Given the description of an element on the screen output the (x, y) to click on. 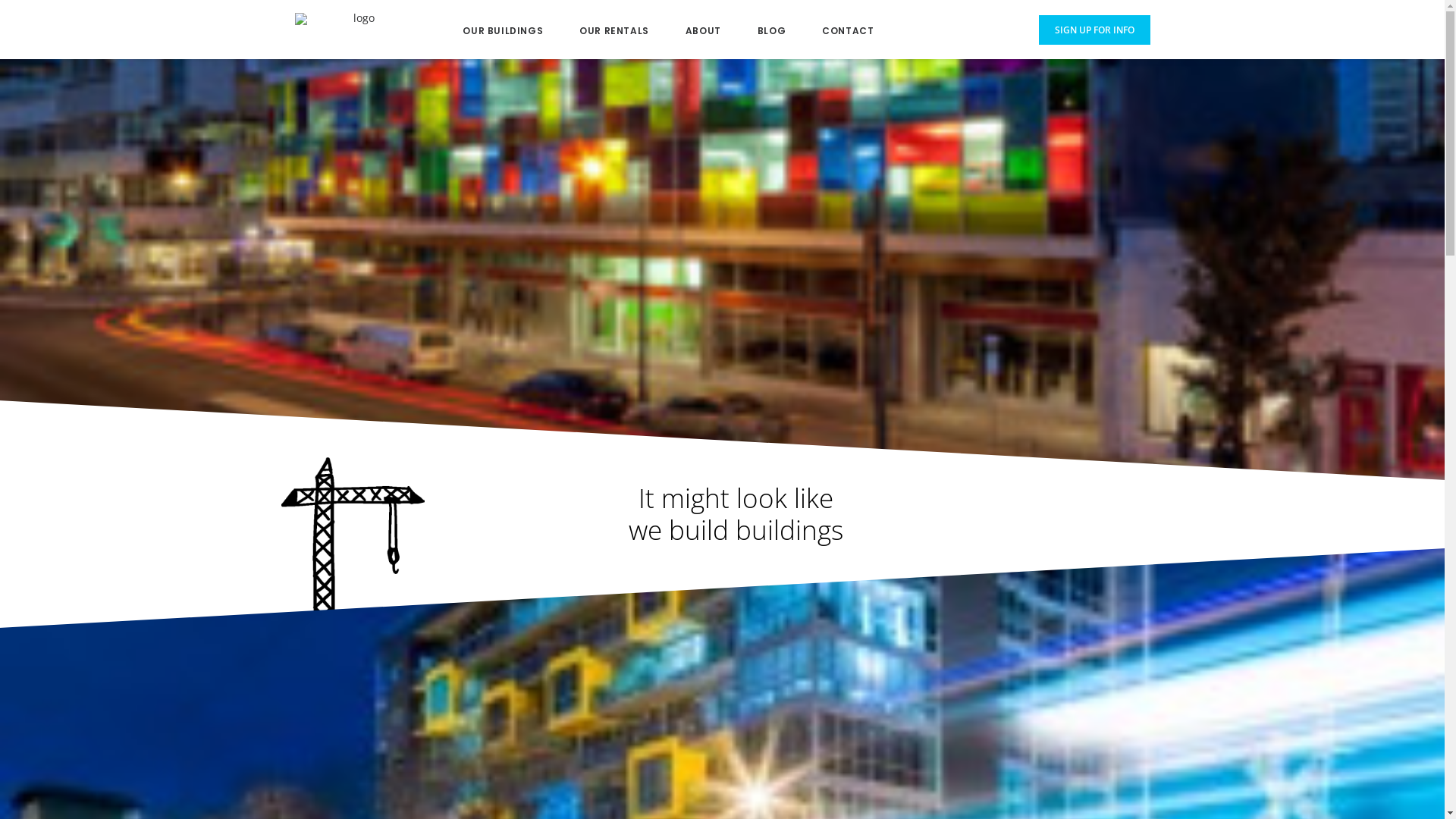
BLOG Element type: text (771, 29)
SIGN UP FOR INFO Element type: text (1094, 29)
OUR BUILDINGS Element type: text (502, 29)
ABOUT Element type: text (703, 29)
OUR RENTALS Element type: text (614, 29)
CONTACT Element type: text (847, 29)
